Given the description of an element on the screen output the (x, y) to click on. 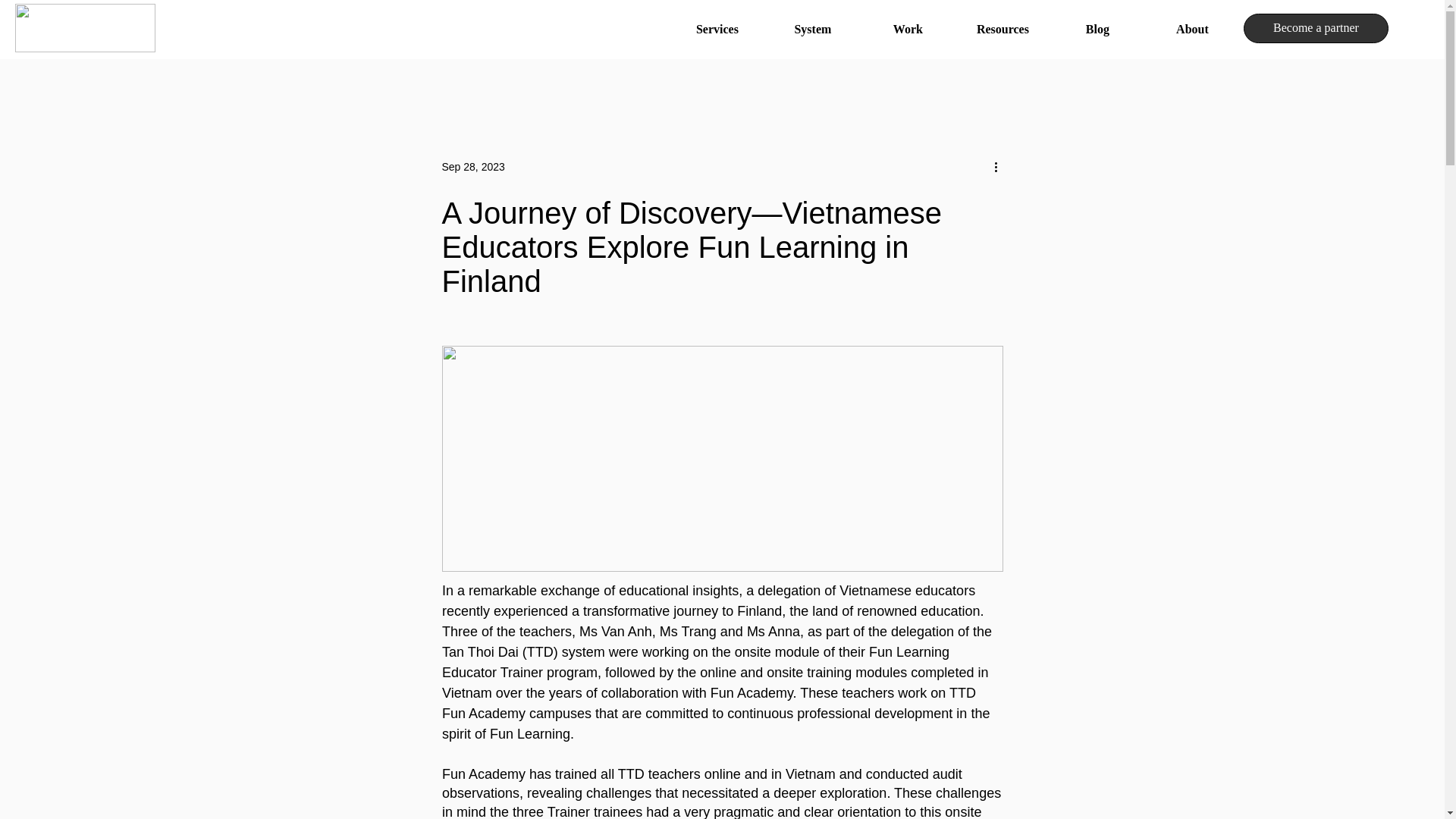
About (1192, 29)
Resources (1002, 29)
System (812, 29)
Sep 28, 2023 (472, 166)
Services (717, 29)
Blog (1096, 29)
Become a partner (1316, 28)
Work (907, 29)
